Given the description of an element on the screen output the (x, y) to click on. 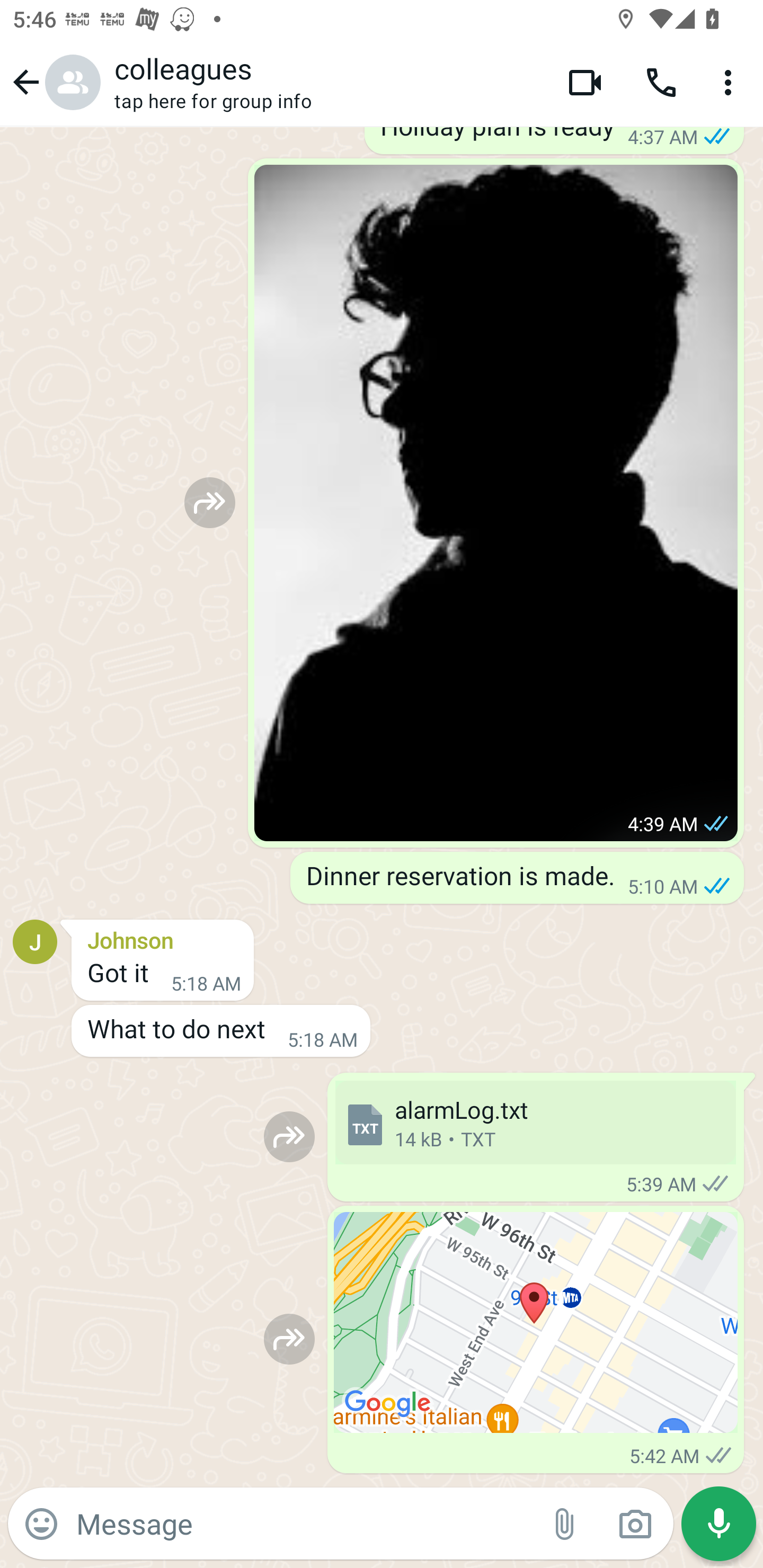
colleagues tap here for group info (327, 82)
Navigate up (54, 82)
Video call (585, 81)
Voice call (661, 81)
More options (731, 81)
View photo (495, 502)
Forward to… (209, 502)
Profile picture for Johnson J (34, 941)
Johnson (162, 936)
alarmLog.txt 14 kB • TXT (535, 1122)
Forward to… (288, 1136)
Location (535, 1322)
Forward to… (288, 1338)
Emoji (41, 1523)
Attach (565, 1523)
Camera (634, 1523)
Message (303, 1523)
